Given the description of an element on the screen output the (x, y) to click on. 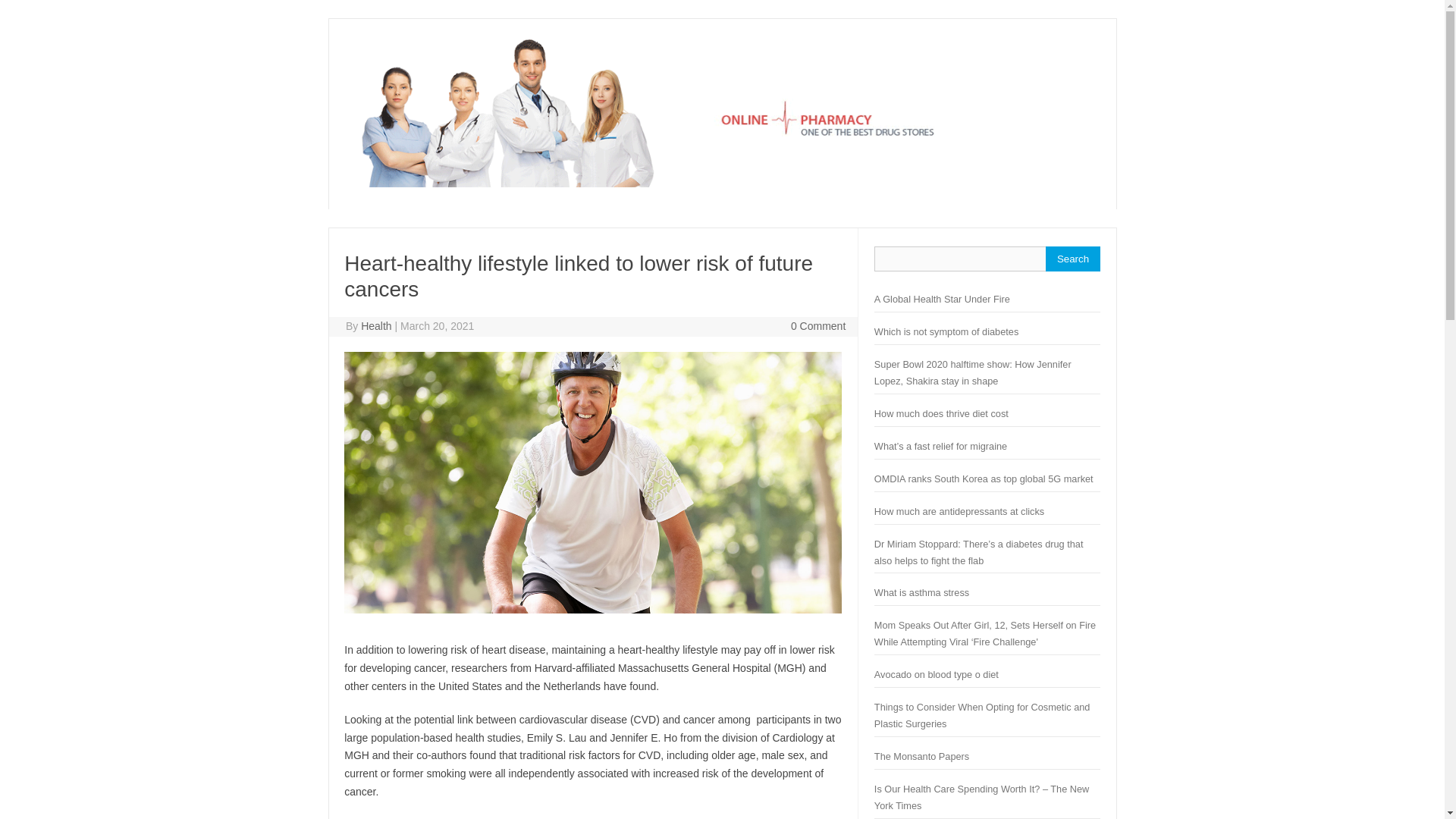
Health (376, 326)
Search (1072, 258)
Search (1072, 258)
A Global Health Star Under Fire (942, 298)
Health (721, 183)
The Monsanto Papers (922, 756)
How much are antidepressants at clicks (959, 511)
0 Comment (817, 326)
Posts by Health (376, 326)
How much does thrive diet cost (942, 413)
OMDIA ranks South Korea as top global 5G market (984, 478)
